Given the description of an element on the screen output the (x, y) to click on. 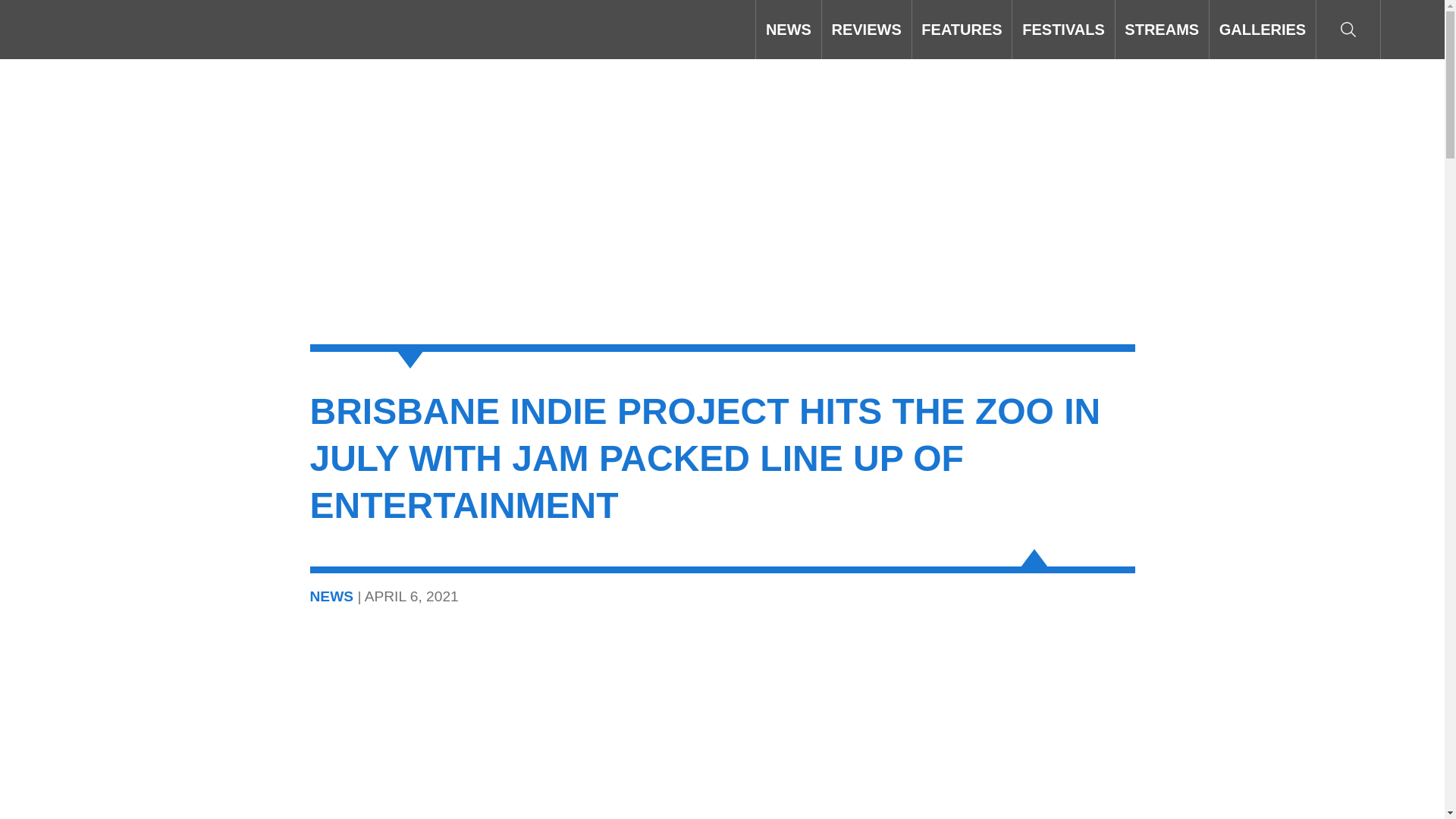
GALLERIES (1262, 29)
Search (1348, 29)
FESTIVALS (1062, 29)
STREAMS (1161, 29)
NEWS (788, 29)
FEATURES (961, 29)
REVIEWS (866, 29)
